Given the description of an element on the screen output the (x, y) to click on. 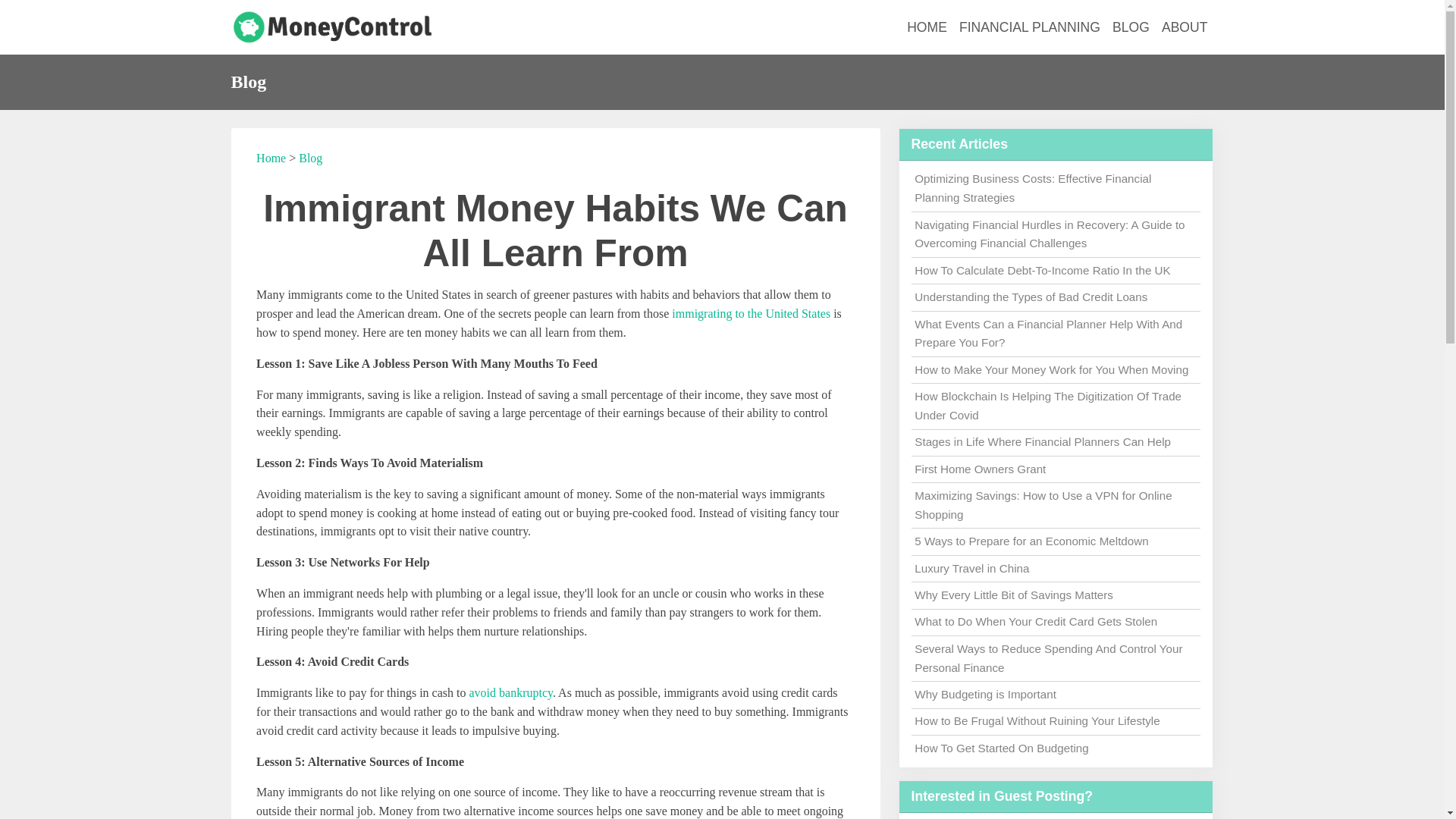
How to Be Frugal Without Ruining Your Lifestyle (1036, 720)
Maximizing Savings: How to Use a VPN for Online Shopping (1043, 504)
ABOUT (1185, 27)
FINANCIAL PLANNING (1029, 27)
immigrating to the United States (750, 313)
HOME (927, 27)
Why Budgeting is Important (985, 694)
Home (270, 157)
5 Ways to Prepare for an Economic Meltdown (1031, 540)
Blog (309, 157)
Luxury Travel in China (971, 567)
How To Get Started On Budgeting (1000, 748)
avoid bankruptcy (509, 692)
